Given the description of an element on the screen output the (x, y) to click on. 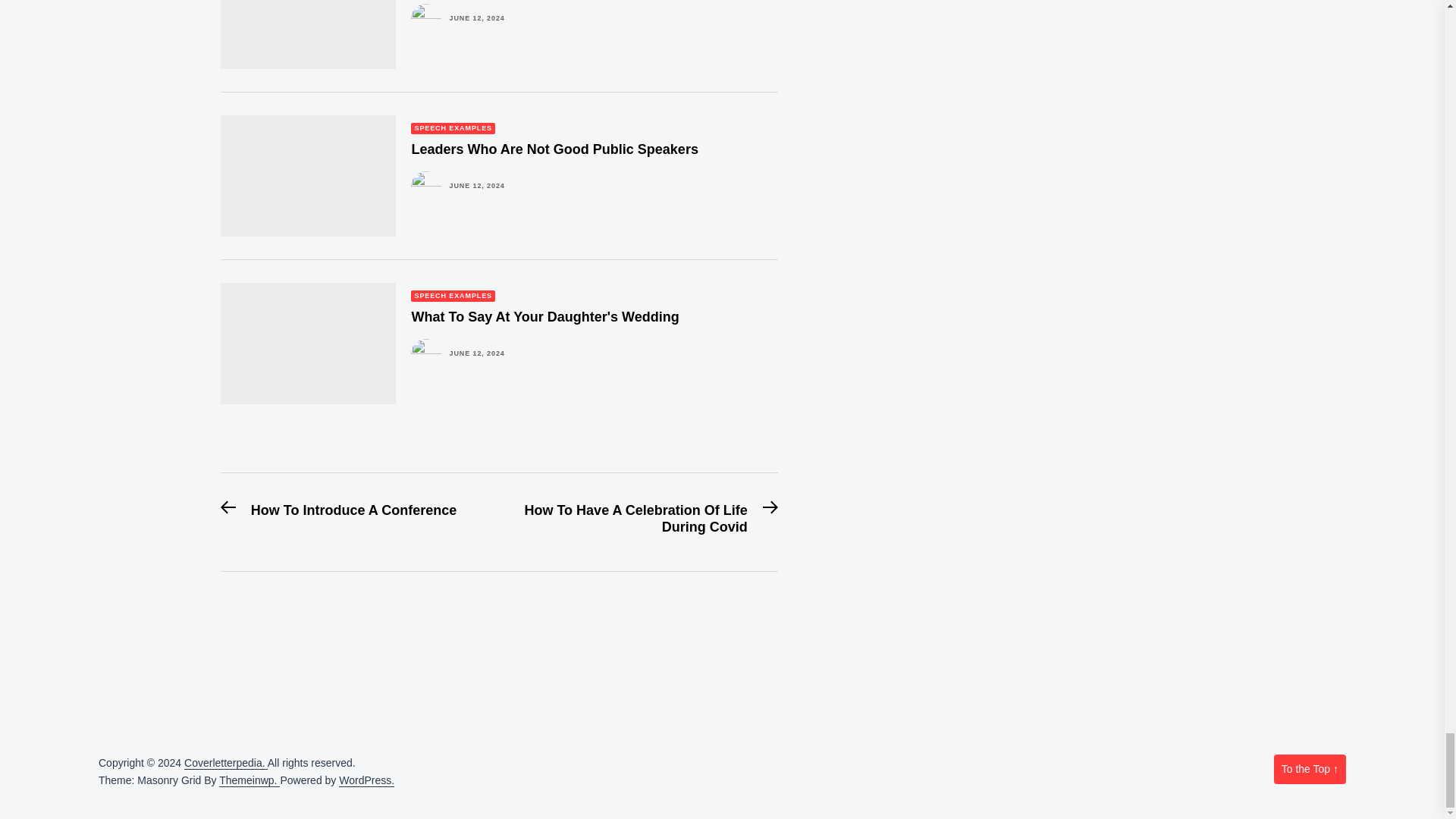
Themeinwp (249, 780)
Coverletterpedia (225, 762)
WordPress (366, 780)
